Given the description of an element on the screen output the (x, y) to click on. 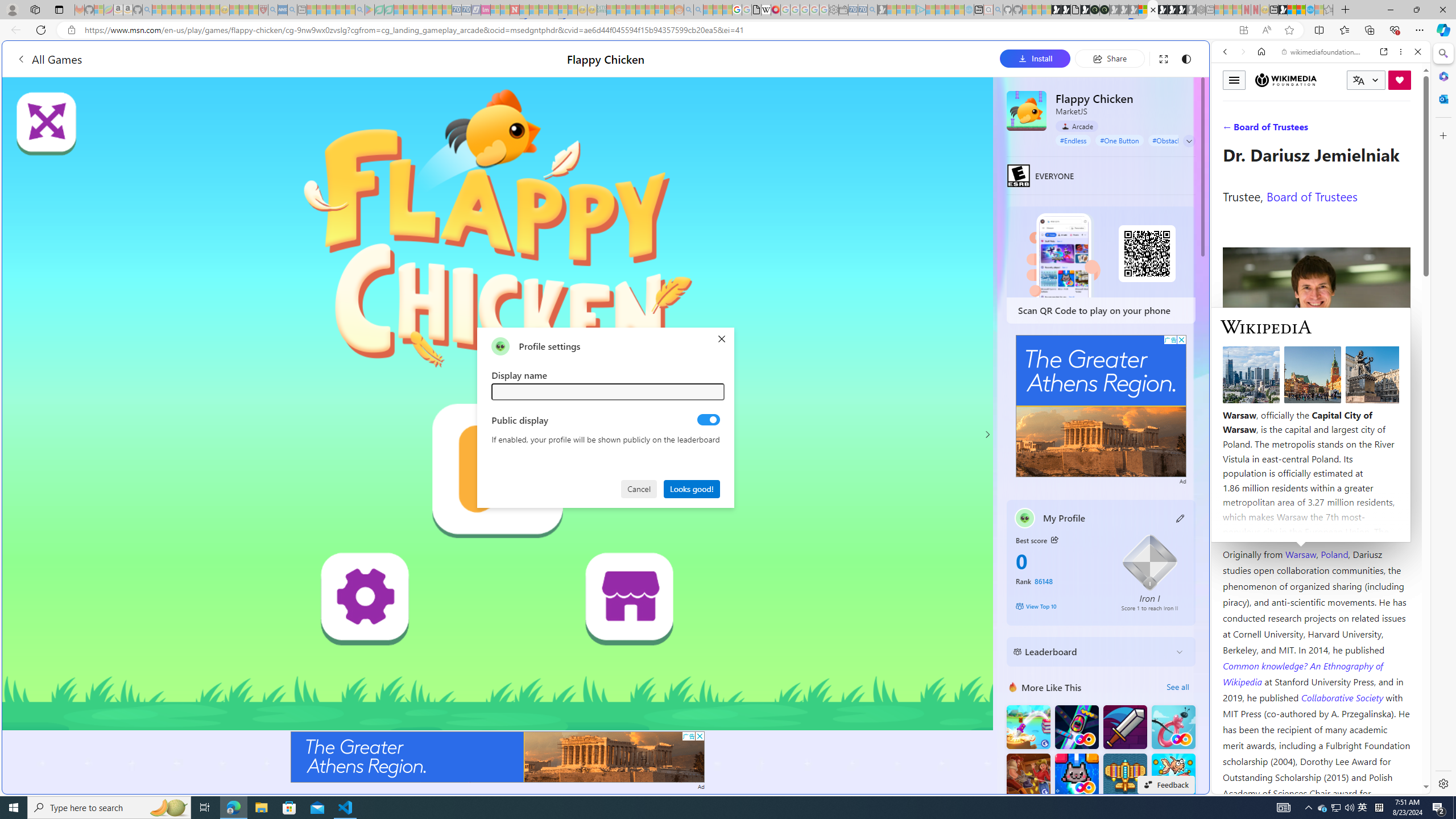
Looks good! (691, 488)
VIDEOS (1300, 130)
Search the web (1326, 78)
Sign in to your account (1143, 9)
NCL Adult Asthma Inhaler Choice Guideline - Sleeping (282, 9)
Class: text-input (608, 391)
google_privacy_policy_zh-CN.pdf (1118, 683)
Web scope (1230, 102)
Toggle menu (1233, 80)
Class: control (1188, 140)
